Given the description of an element on the screen output the (x, y) to click on. 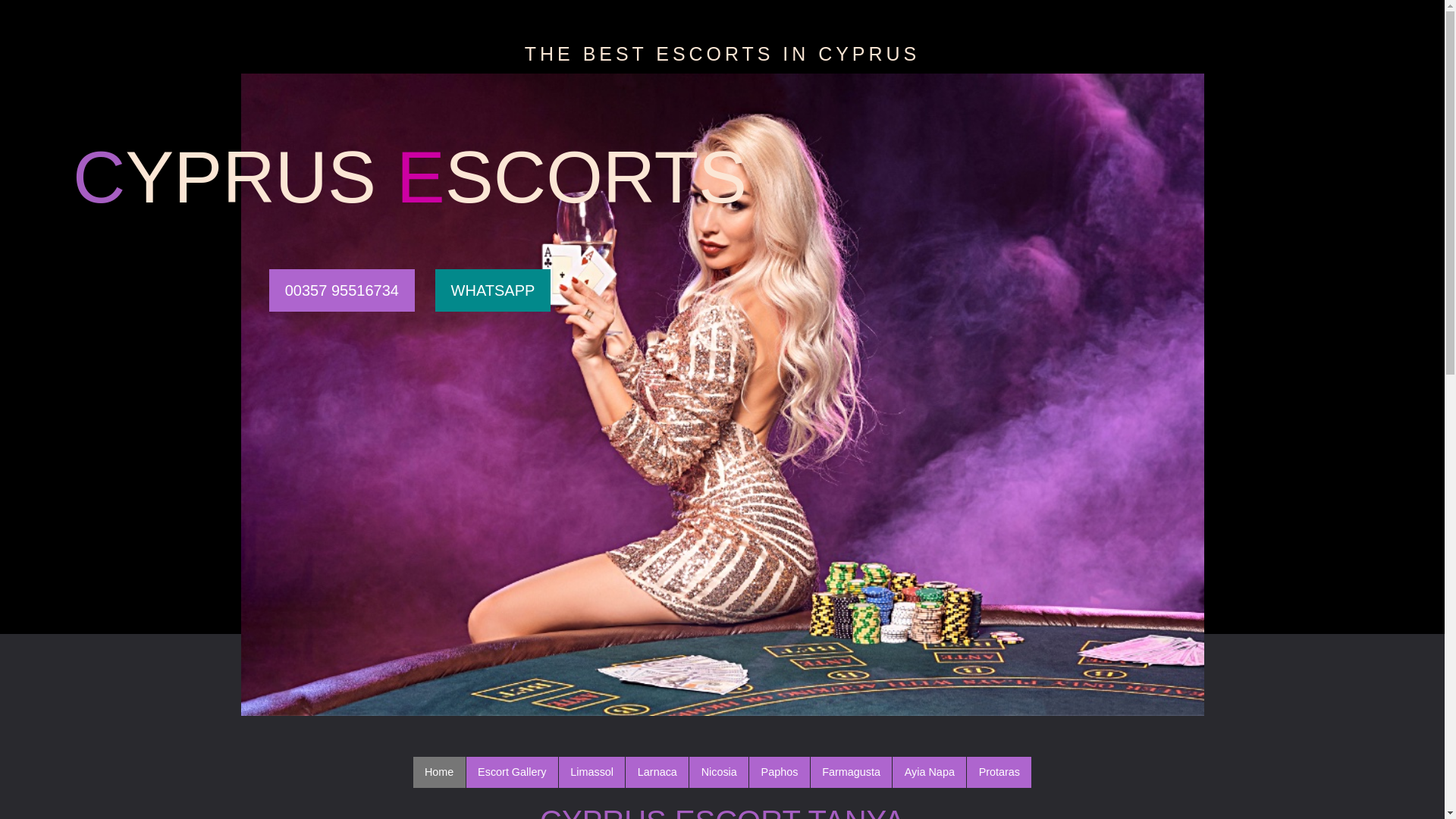
Home (439, 771)
Protaras (998, 771)
Nicosia (718, 771)
00357 95516734 (341, 290)
Ayia Napa (929, 771)
WHATSAPP (493, 290)
Farmagusta (851, 771)
Paphos (779, 771)
Escort Gallery (511, 771)
Limassol (592, 771)
